Given the description of an element on the screen output the (x, y) to click on. 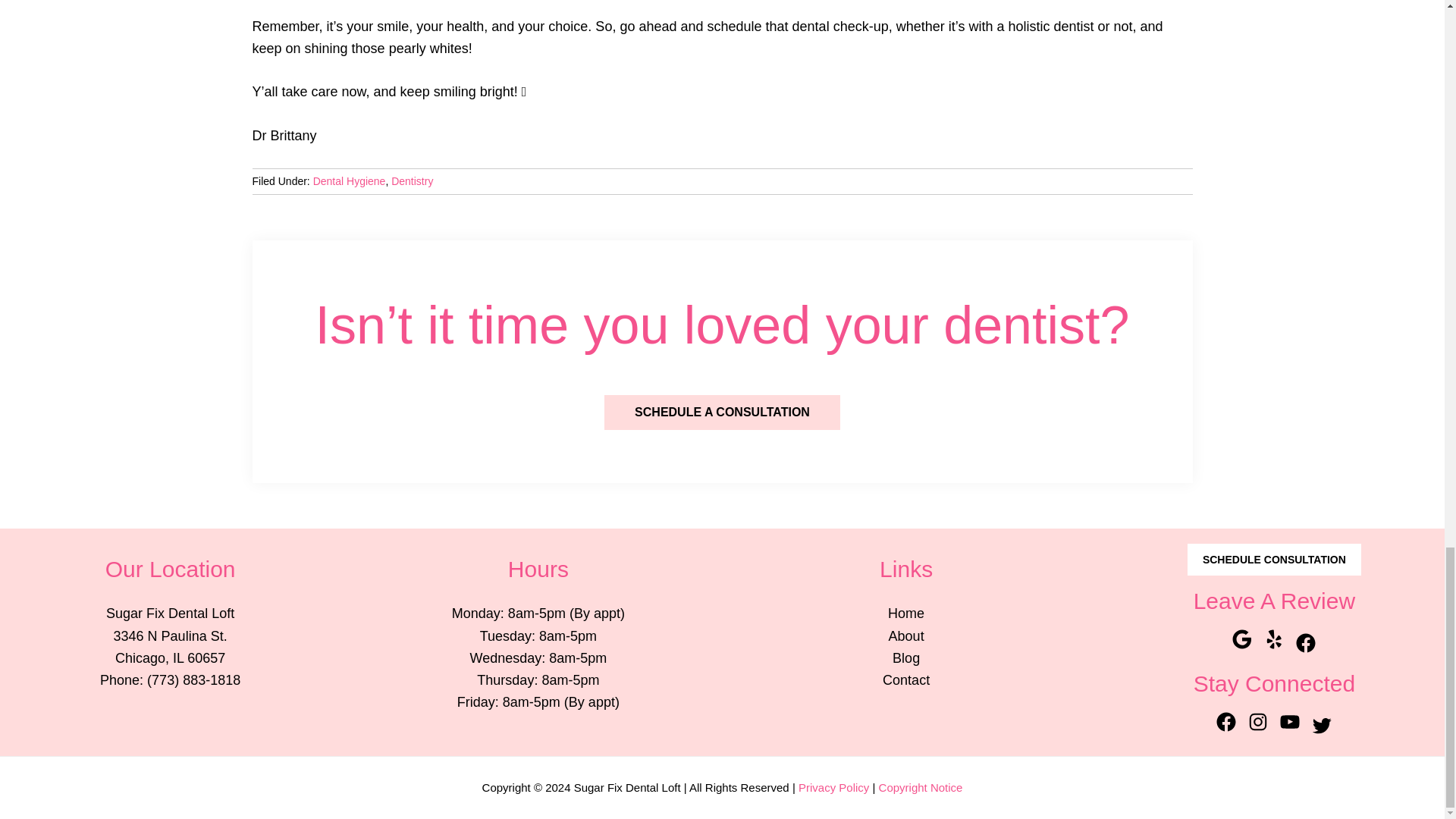
Google (1241, 639)
Blog (906, 657)
About (906, 635)
SCHEDULE CONSULTATION (1274, 559)
SCHEDULE A CONSULTATION (722, 411)
Home (906, 613)
Contact (906, 679)
Dental Hygiene (349, 181)
Dentistry (411, 181)
